Given the description of an element on the screen output the (x, y) to click on. 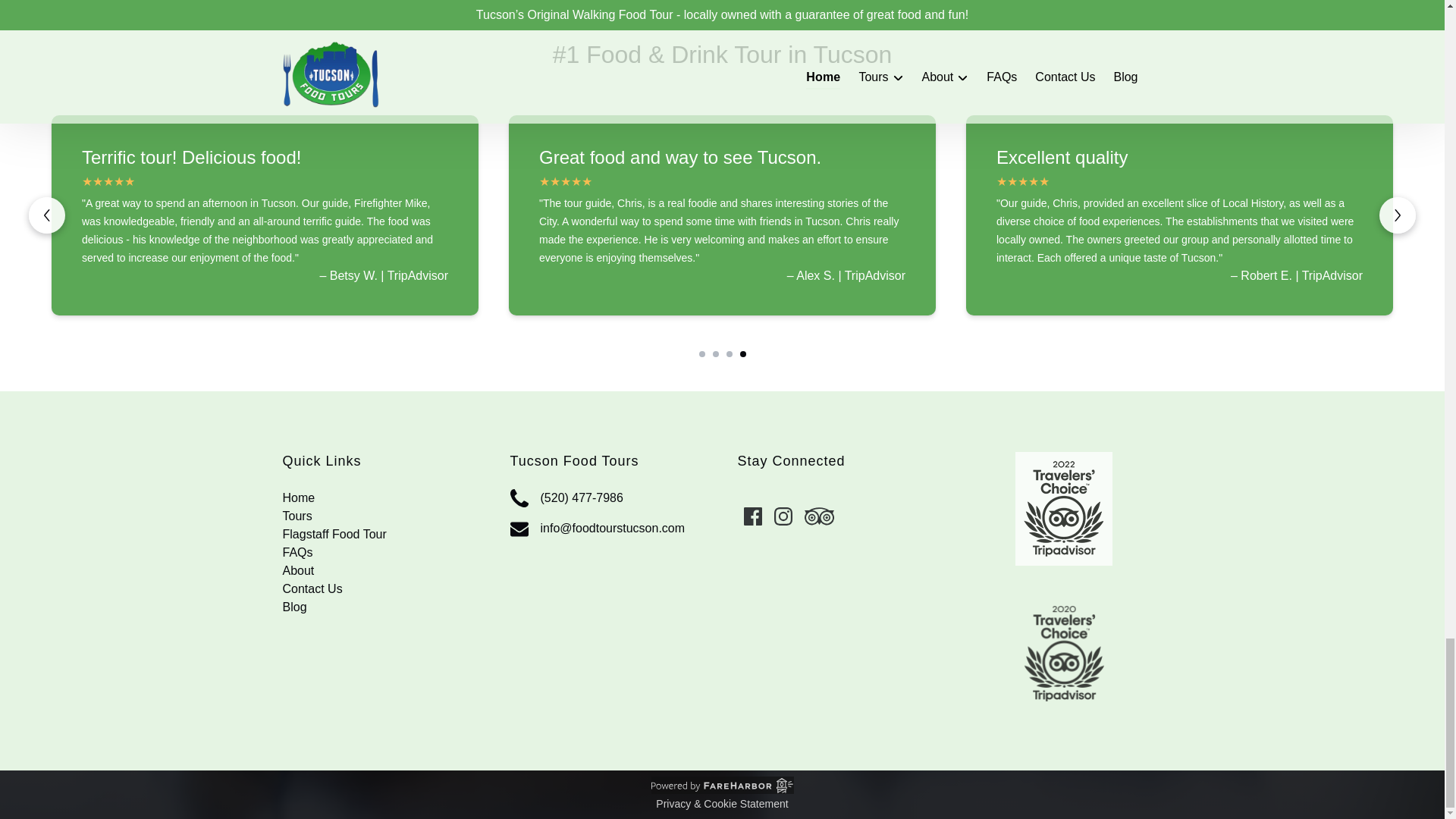
Envelope (518, 529)
Phone (518, 497)
